Given the description of an element on the screen output the (x, y) to click on. 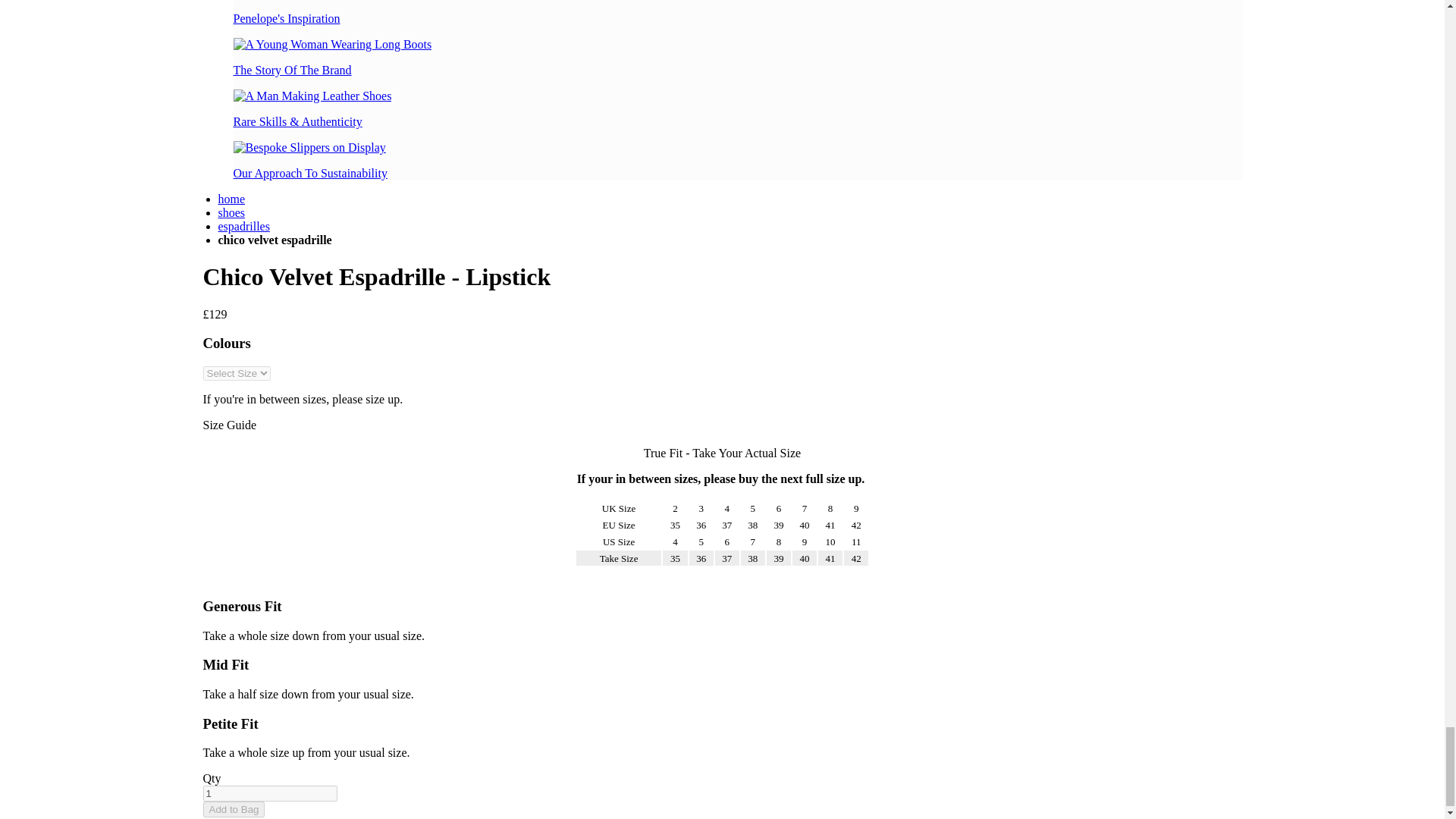
Add to Bag (233, 809)
Go to Home Page (232, 198)
Qty (270, 793)
1 (270, 793)
